Given the description of an element on the screen output the (x, y) to click on. 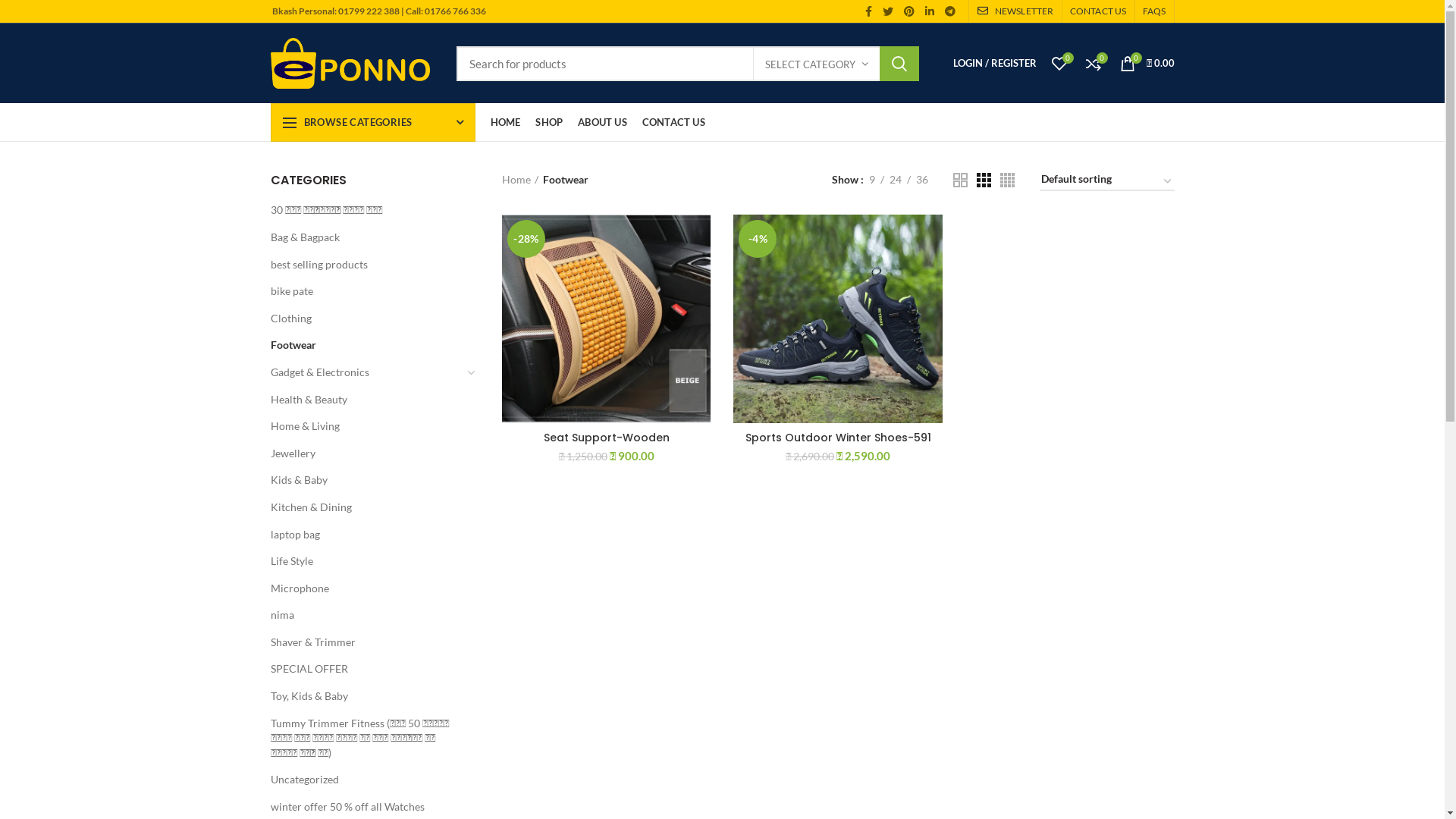
Facebook Element type: text (868, 11)
Telegram Element type: text (949, 11)
SEARCH Element type: text (899, 62)
NEWSLETTER Element type: text (1014, 11)
Life Style Element type: text (364, 560)
-4% Element type: text (837, 318)
Home Element type: text (520, 179)
linkedin Element type: text (929, 11)
ABOUT US Element type: text (602, 122)
36 Element type: text (921, 179)
Footwear Element type: text (364, 344)
SHOP Element type: text (548, 122)
Kitchen & Dining Element type: text (364, 506)
Seat Support-Wooden Element type: text (605, 437)
Shaver & Trimmer Element type: text (364, 641)
24 Element type: text (895, 179)
laptop bag Element type: text (364, 534)
HOME Element type: text (504, 122)
CONTACT US Element type: text (1098, 11)
Health & Beauty Element type: text (364, 399)
0 Element type: text (1058, 63)
Twitter Element type: text (887, 11)
Home & Living Element type: text (364, 425)
CONTACT US Element type: text (673, 122)
best selling products Element type: text (364, 264)
LOGIN / REGISTER Element type: text (993, 63)
Gadget & Electronics Element type: text (364, 371)
Uncategorized Element type: text (364, 779)
bike pate Element type: text (364, 290)
Kids & Baby Element type: text (364, 479)
Sports Outdoor Winter Shoes-591 Element type: text (837, 437)
nima Element type: text (364, 614)
Clothing Element type: text (364, 318)
SPECIAL OFFER Element type: text (364, 668)
FAQS Element type: text (1154, 11)
Toy, Kids & Baby Element type: text (364, 695)
Pinterest Element type: text (908, 11)
9 Element type: text (870, 179)
SELECT CATEGORY Element type: text (816, 63)
Bag & Bagpack Element type: text (364, 237)
0 Element type: text (1093, 63)
-28% Element type: text (606, 318)
Jewellery Element type: text (364, 453)
Microphone Element type: text (364, 588)
